Given the description of an element on the screen output the (x, y) to click on. 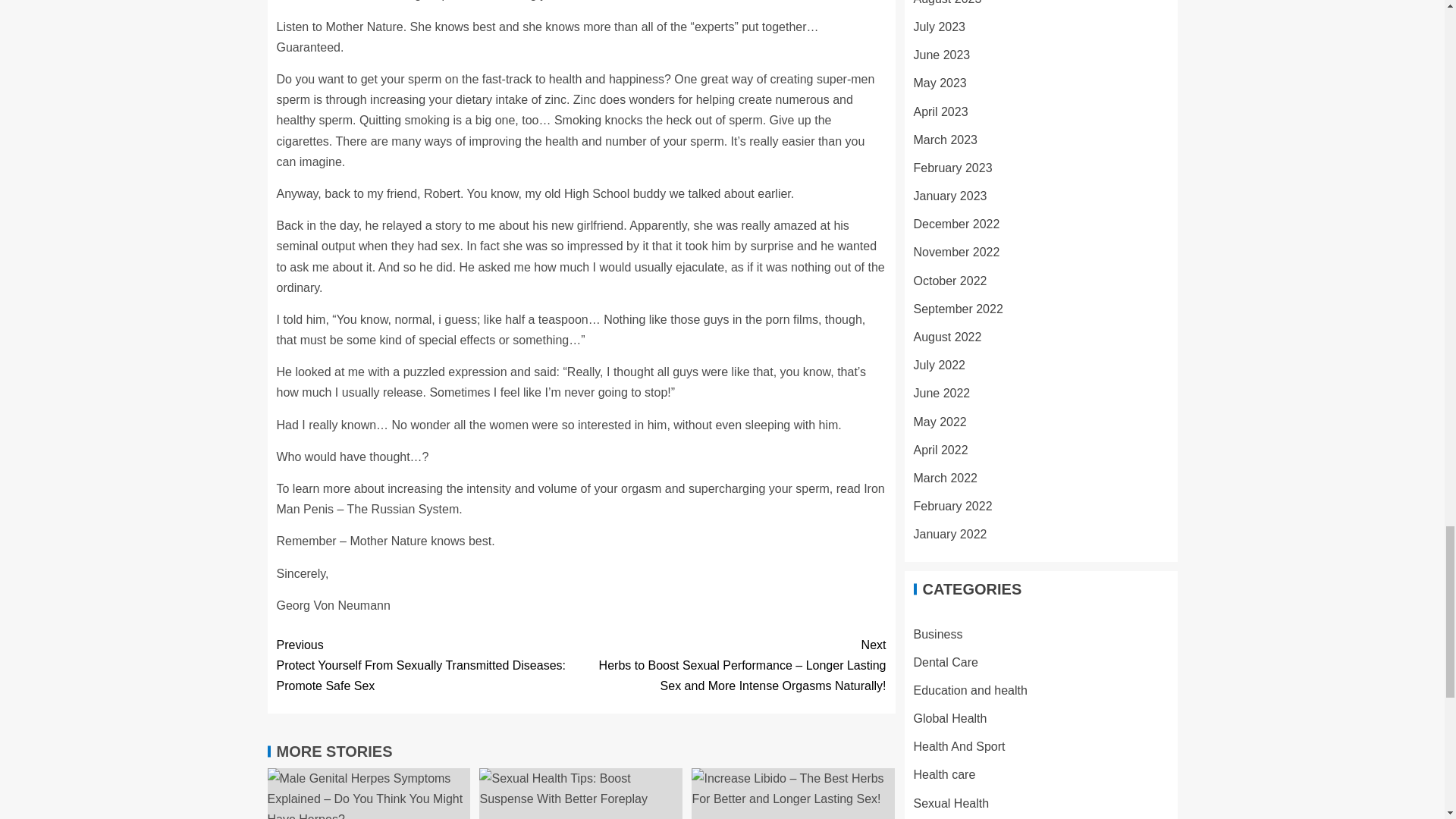
Sexual Health Tips: Boost Suspense With Better Foreplay (580, 793)
